Given the description of an element on the screen output the (x, y) to click on. 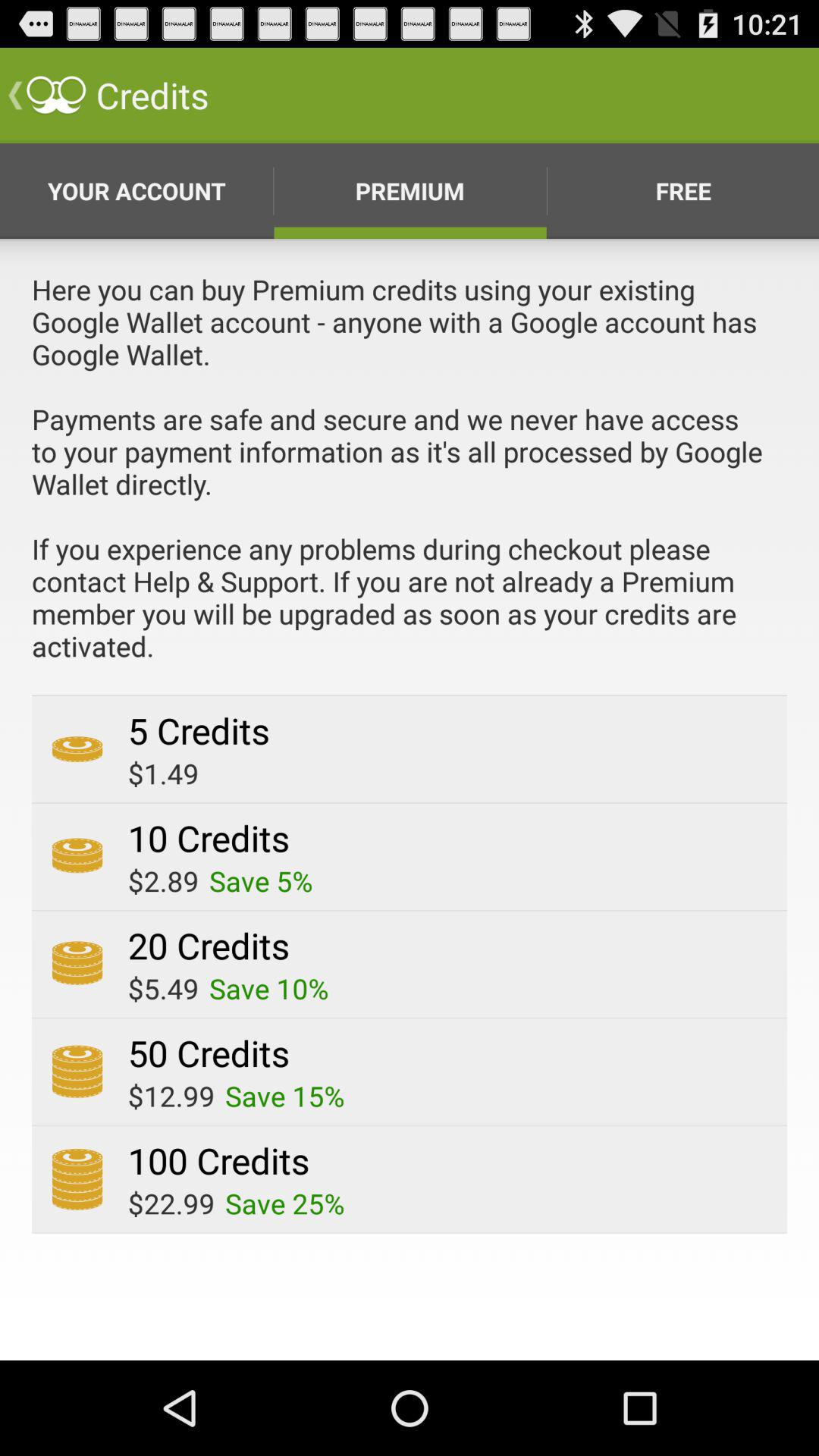
click save 25% app (284, 1203)
